Given the description of an element on the screen output the (x, y) to click on. 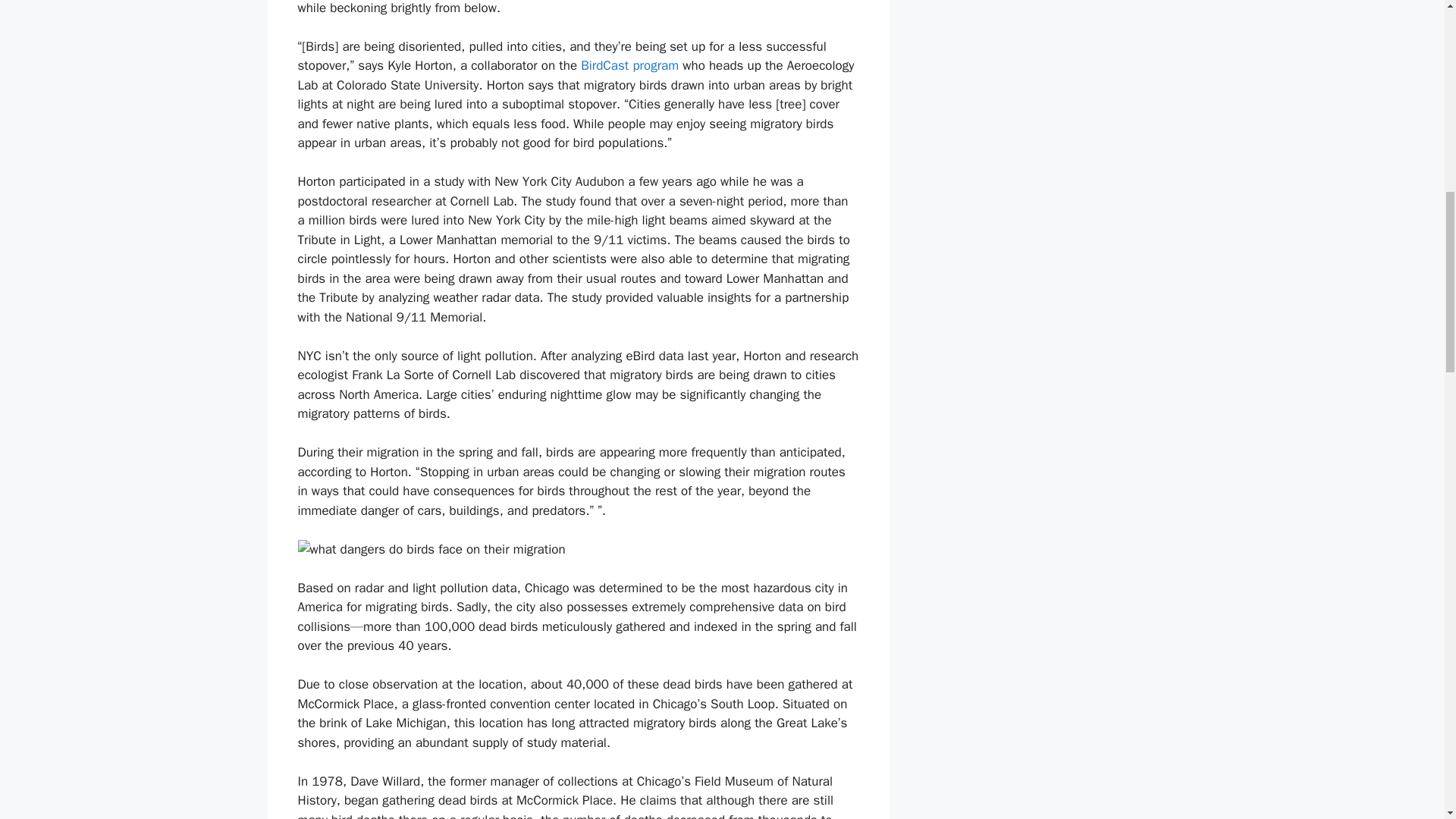
BirdCast program (629, 65)
